Given the description of an element on the screen output the (x, y) to click on. 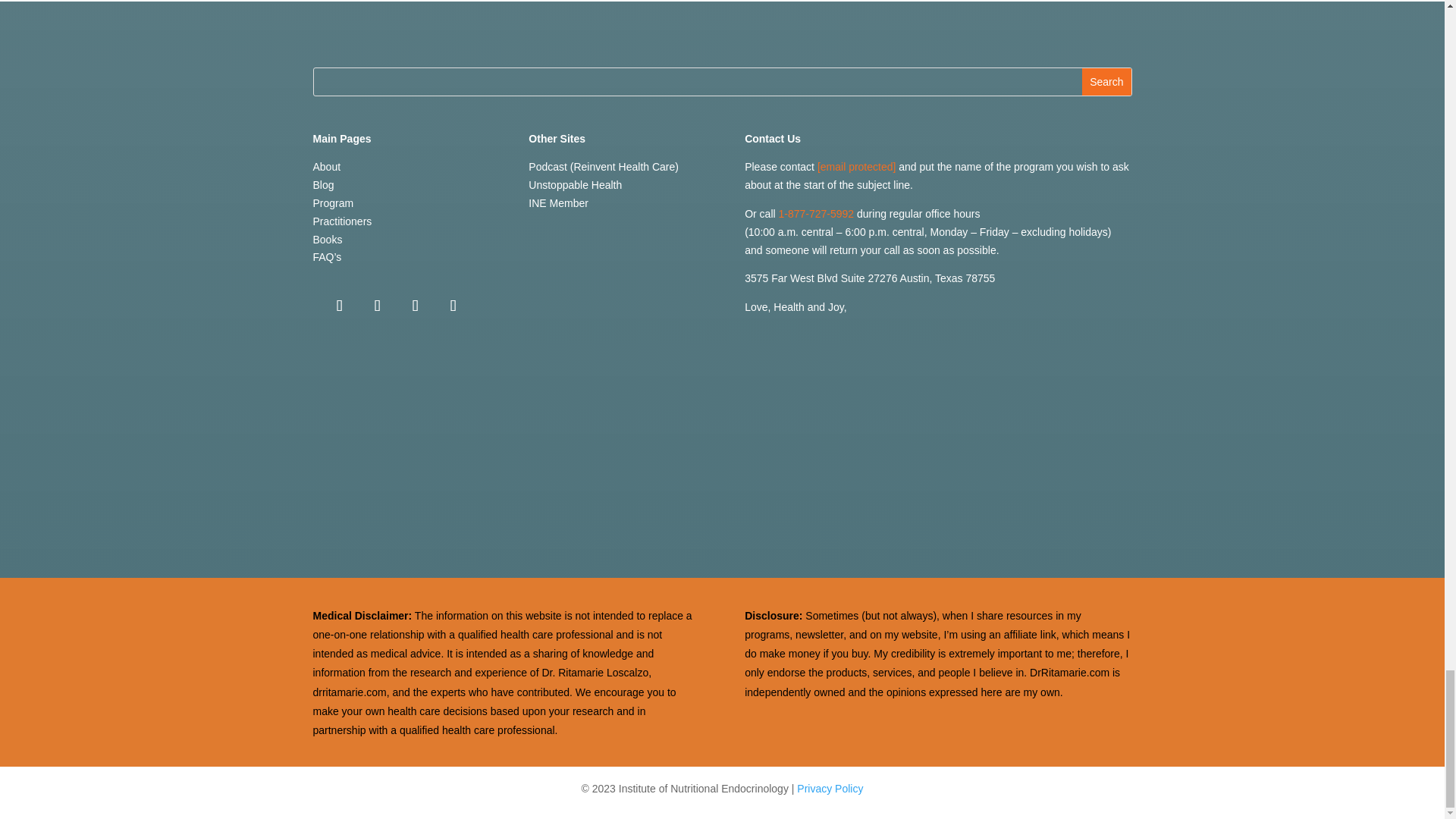
Follow on Instagram (377, 305)
Follow on Youtube (414, 305)
dr.-ritamarie-signature-with-new-logo (721, 468)
Follow on Facebook (339, 305)
Search (1106, 81)
Follow on LinkedIn (452, 305)
Search (1106, 81)
